Given the description of an element on the screen output the (x, y) to click on. 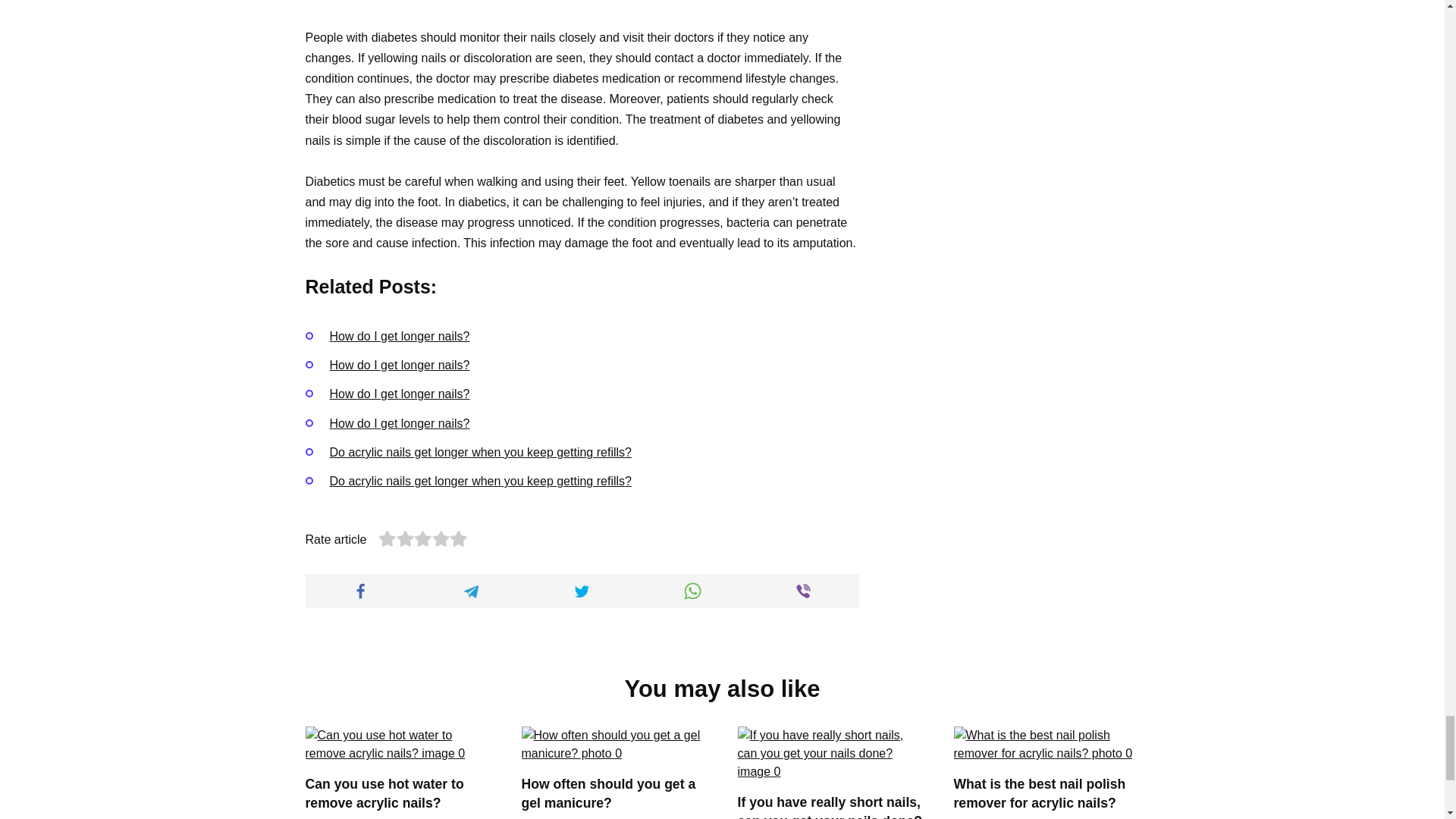
Do acrylic nails get longer when you keep getting refills? (479, 451)
How do I get longer nails? (398, 393)
How do I get longer nails? (398, 422)
Do acrylic nails get longer when you keep getting refills? (479, 481)
How do I get longer nails? (398, 336)
How do I get longer nails? (398, 364)
